Given the description of an element on the screen output the (x, y) to click on. 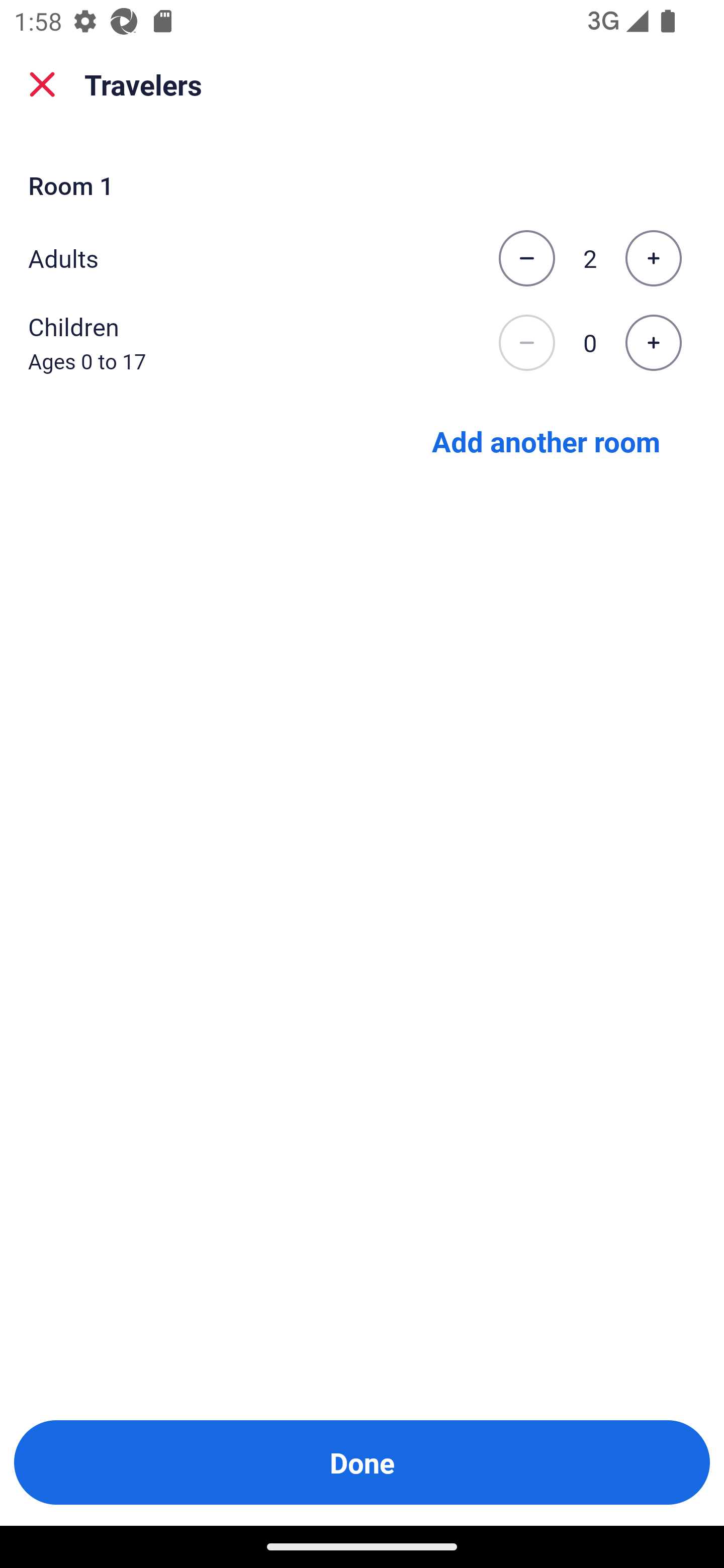
close (42, 84)
Decrease the number of adults (526, 258)
Increase the number of adults (653, 258)
Decrease the number of children (526, 343)
Increase the number of children (653, 343)
Add another room (545, 440)
Done (361, 1462)
